Given the description of an element on the screen output the (x, y) to click on. 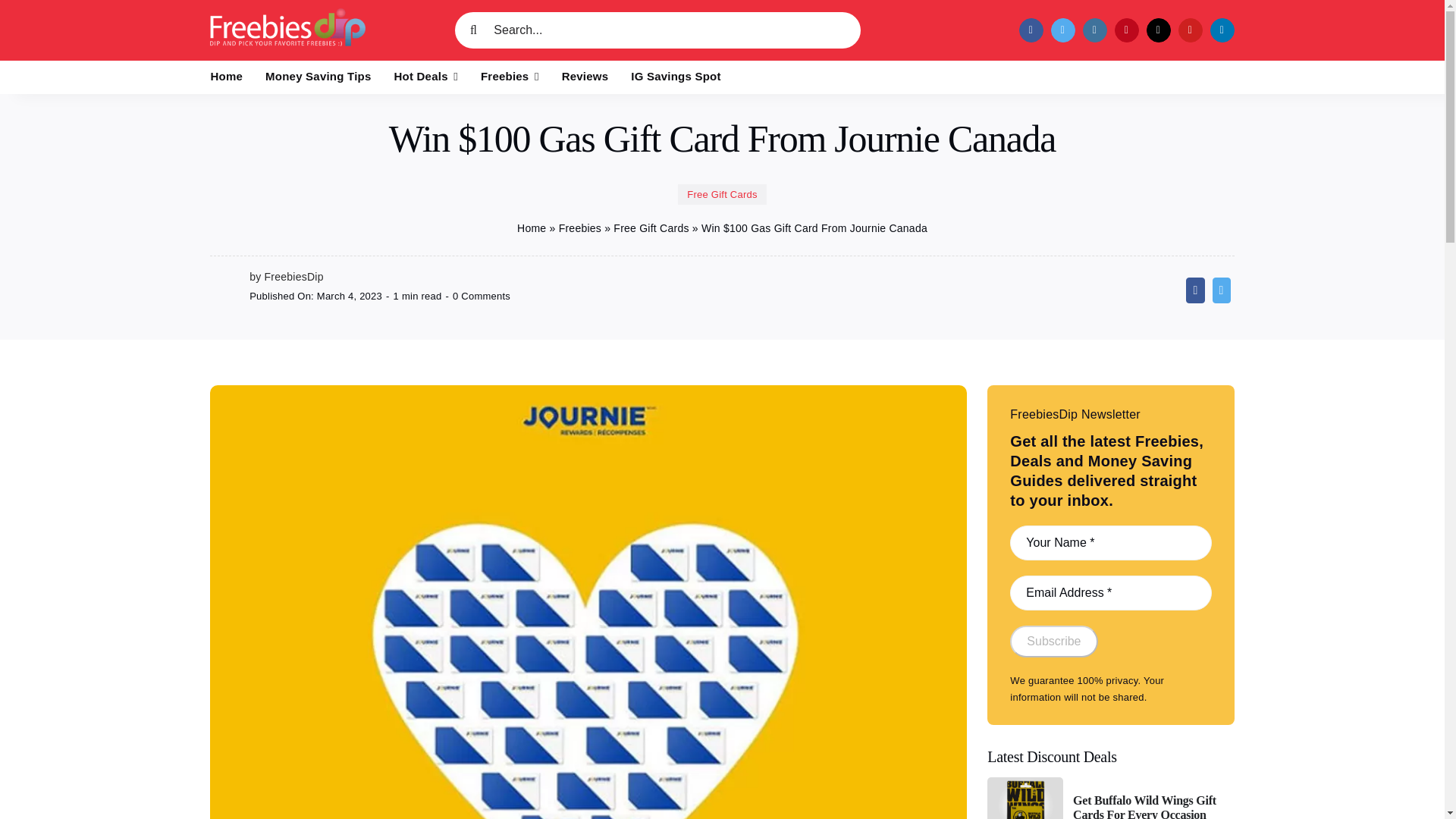
Instagram (1094, 30)
YouTube (1189, 30)
Home (227, 77)
Facebook (1031, 30)
LinkedIn (1221, 30)
Pinterest (1126, 30)
Freebies (509, 77)
Twitter (1063, 30)
Hot Deals (426, 77)
Twitter (1221, 290)
Tiktok (1158, 30)
Facebook (1195, 290)
Money Saving Tips (317, 77)
